Given the description of an element on the screen output the (x, y) to click on. 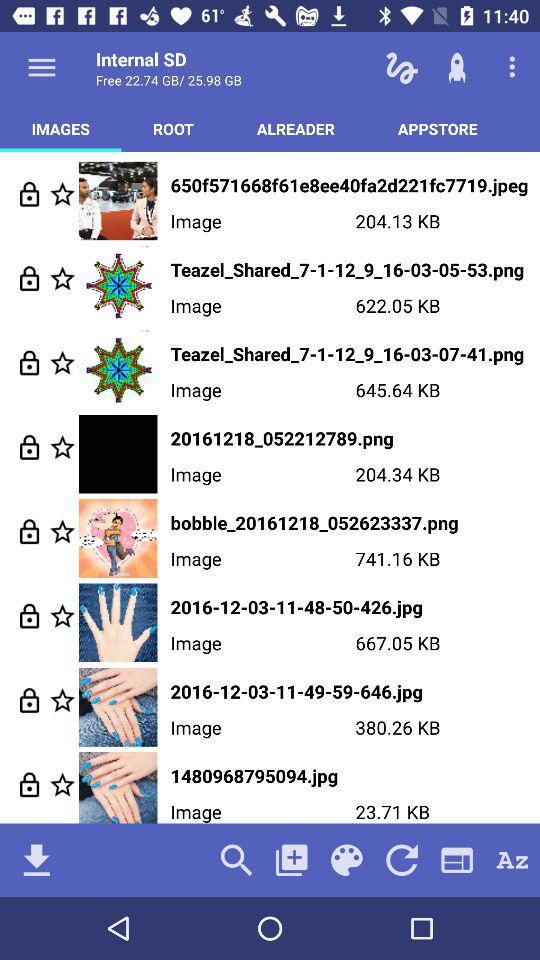
add to favorites (62, 700)
